Given the description of an element on the screen output the (x, y) to click on. 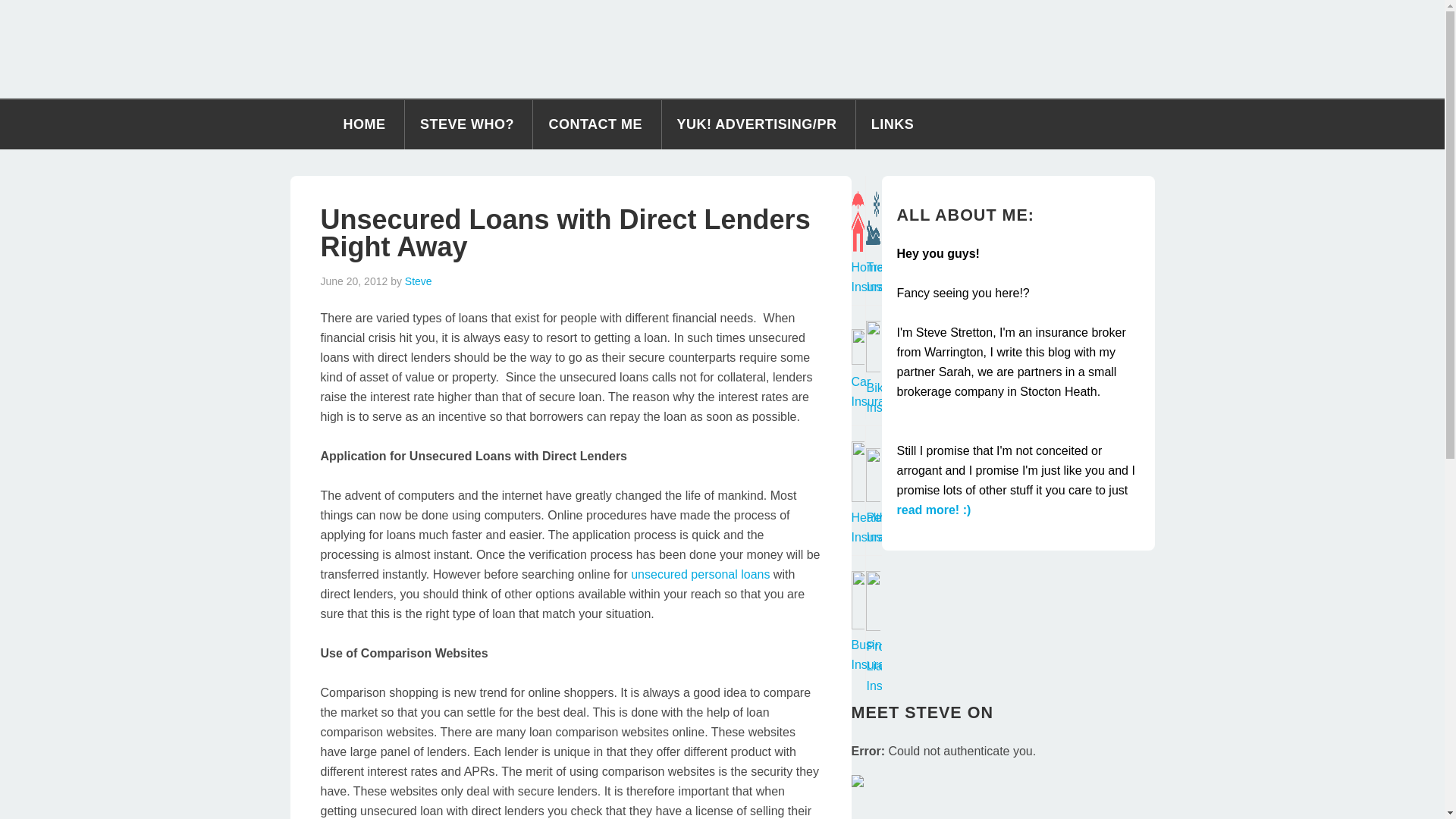
STEVE WHO? (466, 124)
HOME (363, 124)
Steve (418, 281)
THINK INSURANCES... GENERAL INSURANCE BLOG (721, 48)
CONTACT ME (595, 124)
LINKS (893, 124)
read more (933, 509)
unsecured personal loans (700, 574)
